Given the description of an element on the screen output the (x, y) to click on. 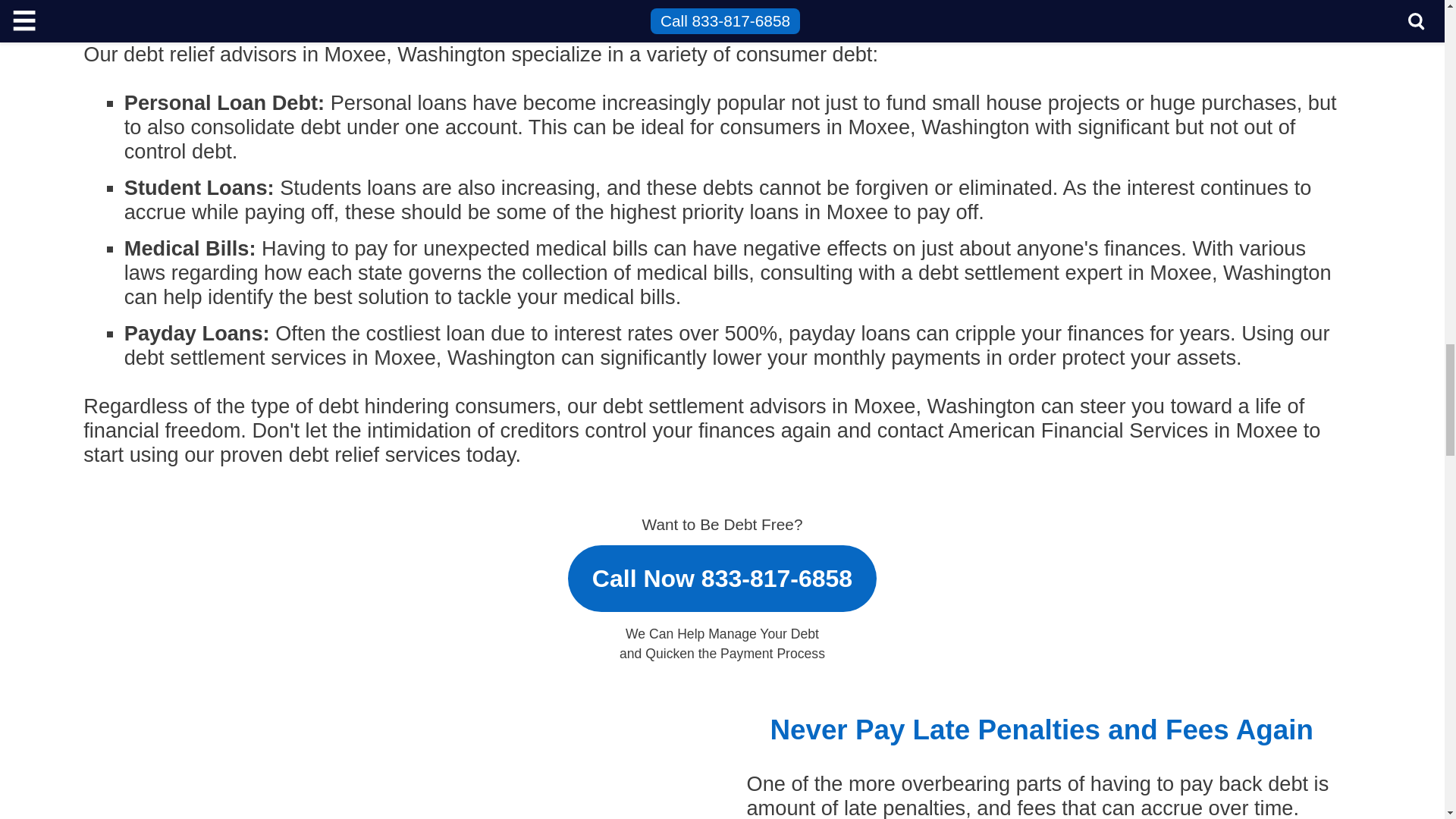
Call Now 833-817-6858 (722, 571)
Never Pay Late Penalties and Fees Again (402, 765)
